Given the description of an element on the screen output the (x, y) to click on. 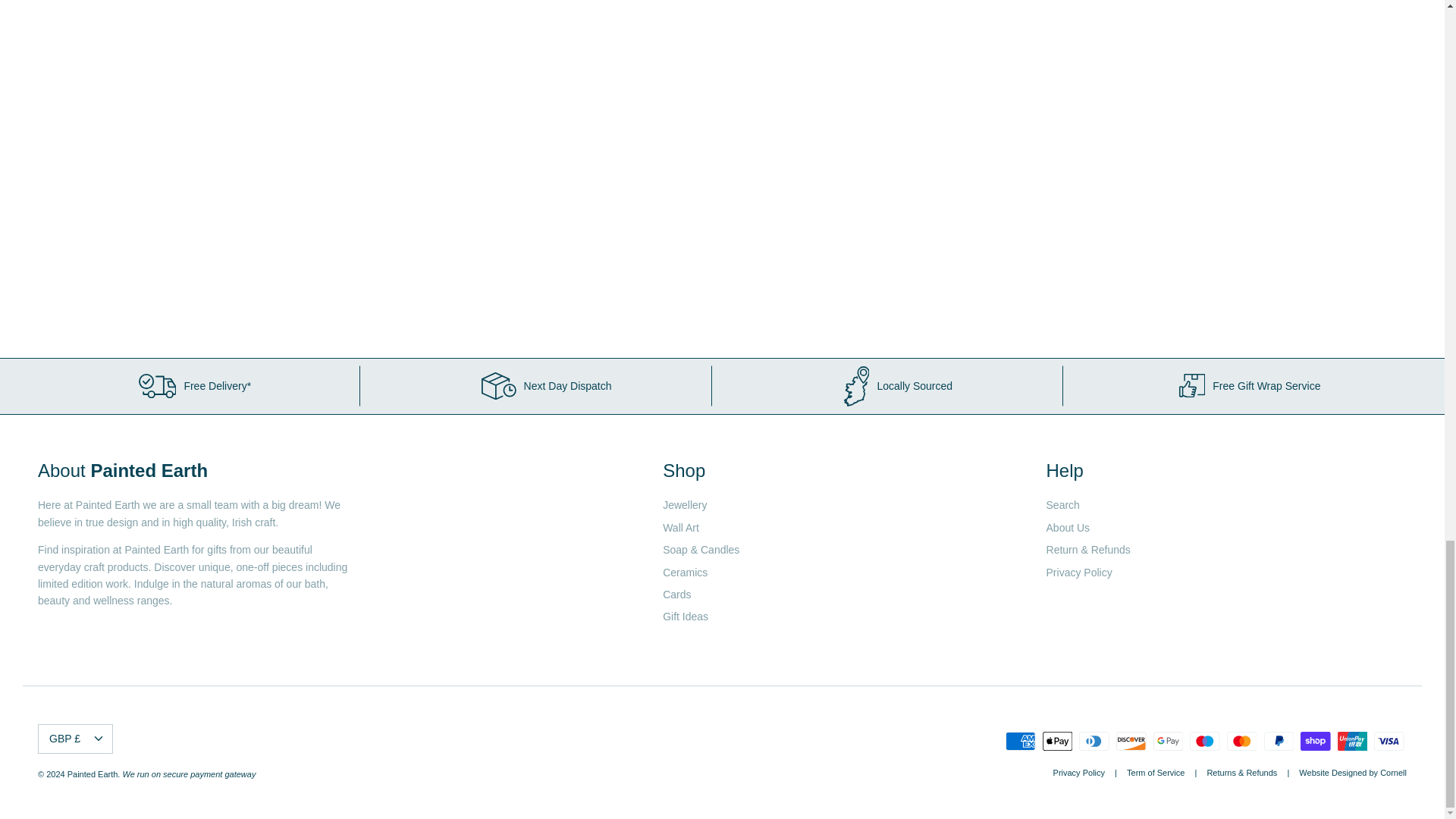
Diners Club (1093, 741)
Google Pay (1168, 741)
American Express (1020, 741)
Discover (1130, 741)
Apple Pay (1057, 741)
